Given the description of an element on the screen output the (x, y) to click on. 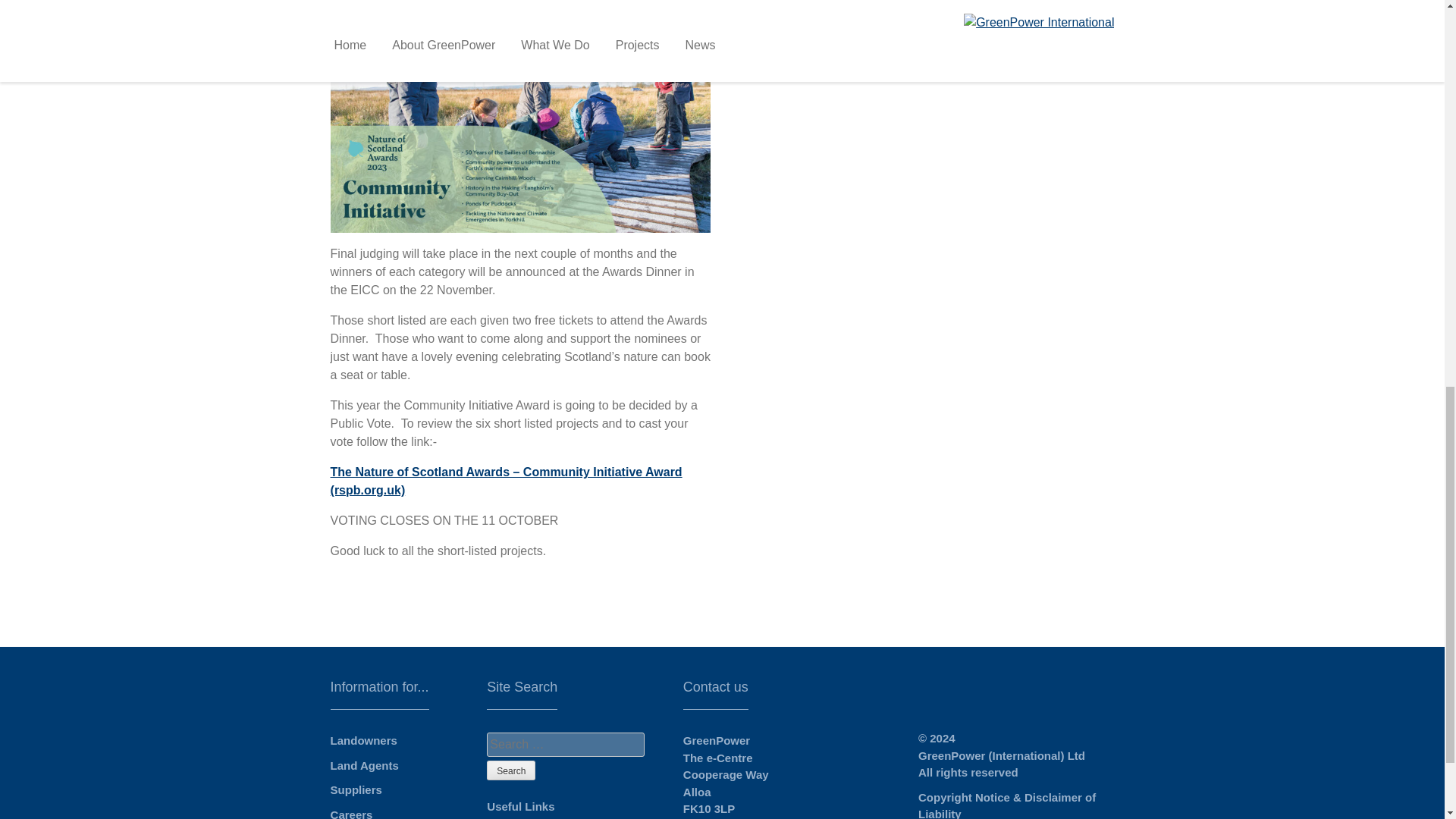
Landowners (363, 739)
Search (510, 770)
Search (510, 770)
Land Agents (364, 765)
